Given the description of an element on the screen output the (x, y) to click on. 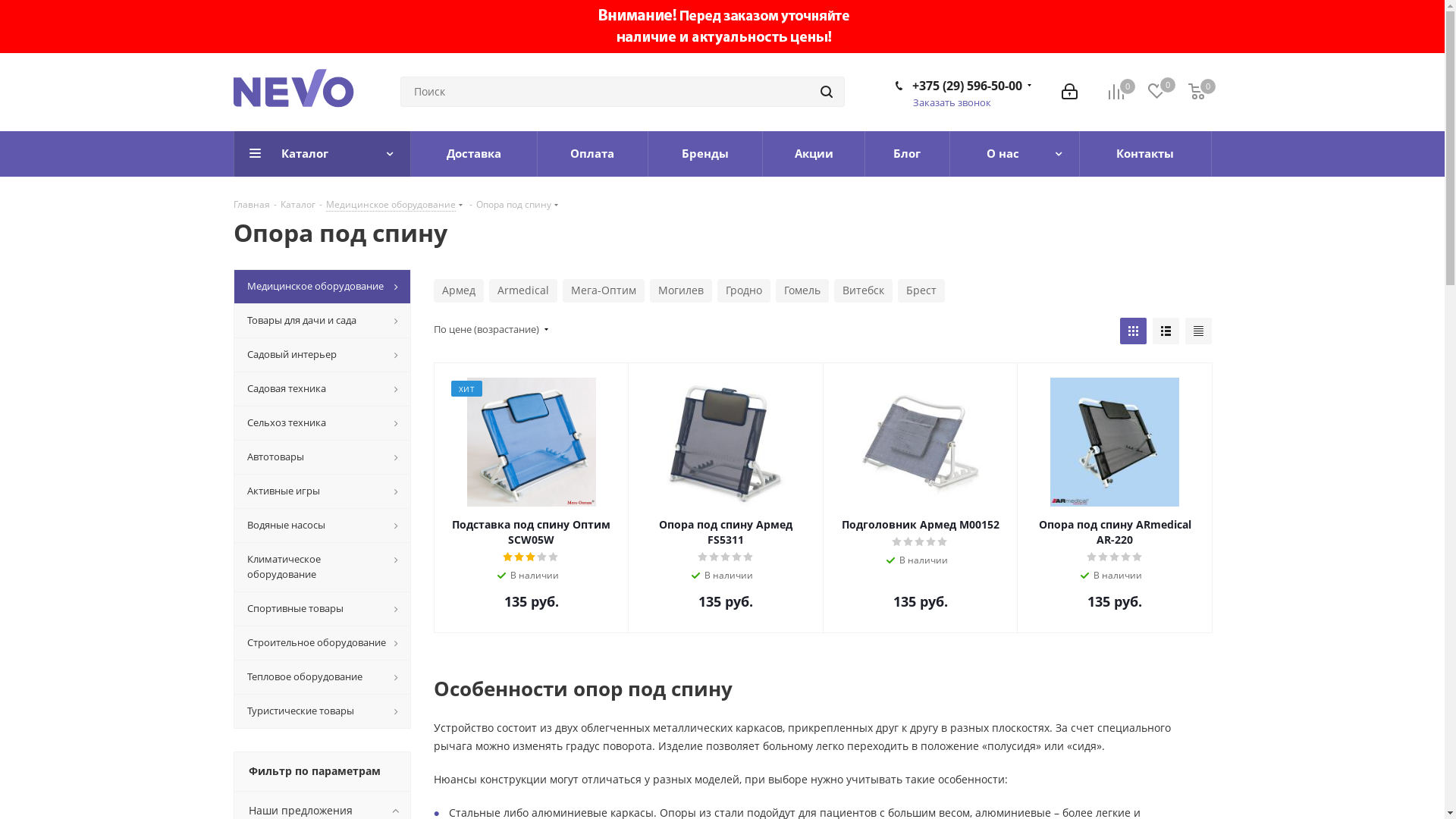
2 Element type: hover (519, 557)
5 Element type: hover (942, 541)
2 Element type: hover (714, 557)
Nevo.by Element type: hover (305, 92)
5 Element type: hover (553, 557)
5 Element type: hover (748, 557)
+375 (29) 596-50-00 Element type: text (966, 85)
3 Element type: hover (919, 541)
3 Element type: hover (1114, 557)
Y Element type: text (4, 4)
2 Element type: hover (908, 541)
Armedical Element type: text (522, 290)
4 Element type: hover (542, 557)
1 Element type: hover (703, 557)
1 Element type: hover (897, 541)
1 Element type: hover (508, 557)
4 Element type: hover (931, 541)
1 Element type: hover (1092, 557)
3 Element type: hover (530, 557)
2 Element type: hover (1103, 557)
4 Element type: hover (737, 557)
3 Element type: hover (725, 557)
5 Element type: hover (1137, 557)
4 Element type: hover (1126, 557)
